Given the description of an element on the screen output the (x, y) to click on. 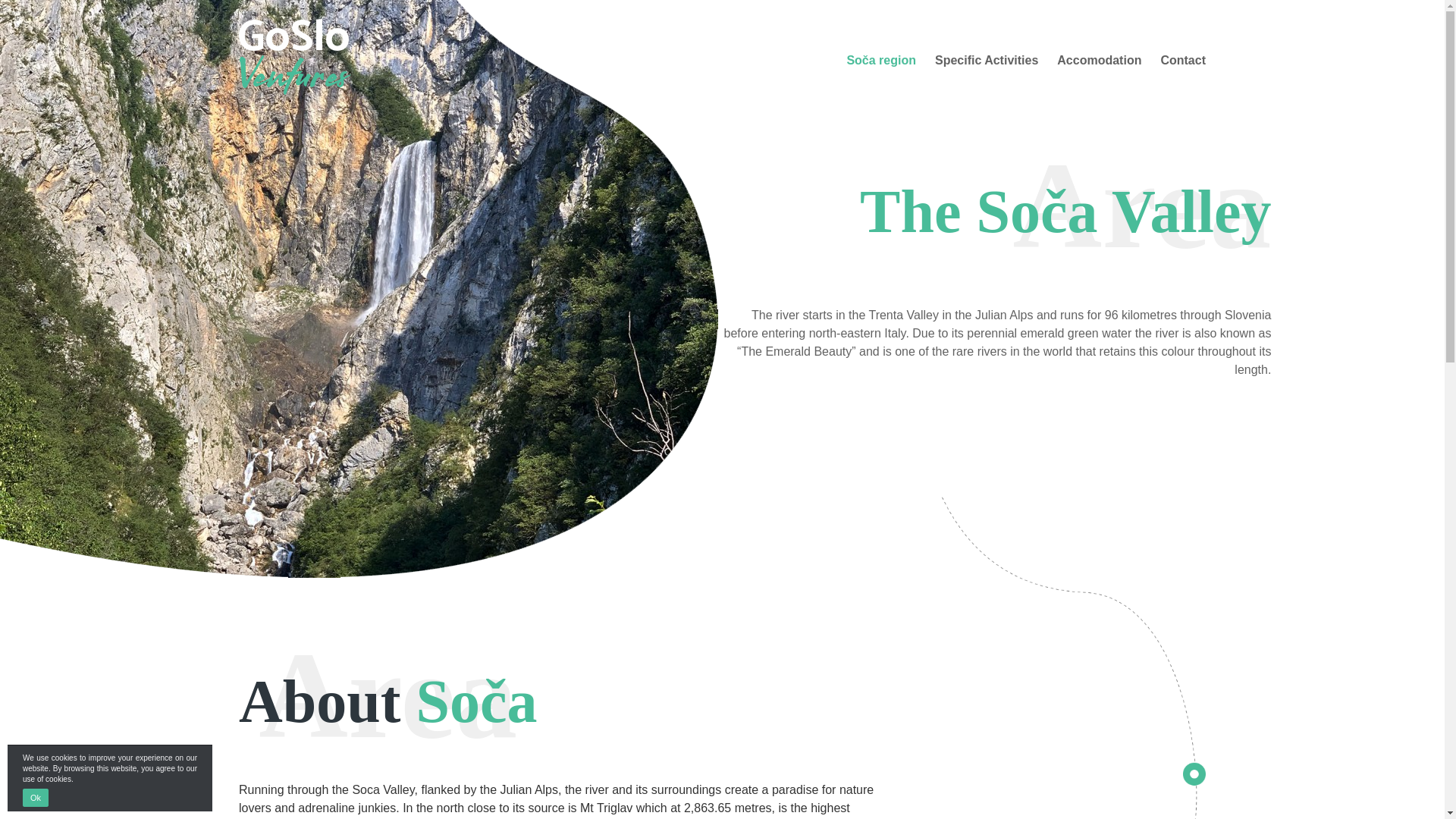
Contact (1182, 63)
Specific Activities (986, 63)
Accomodation (1099, 63)
Ok (35, 797)
